Given the description of an element on the screen output the (x, y) to click on. 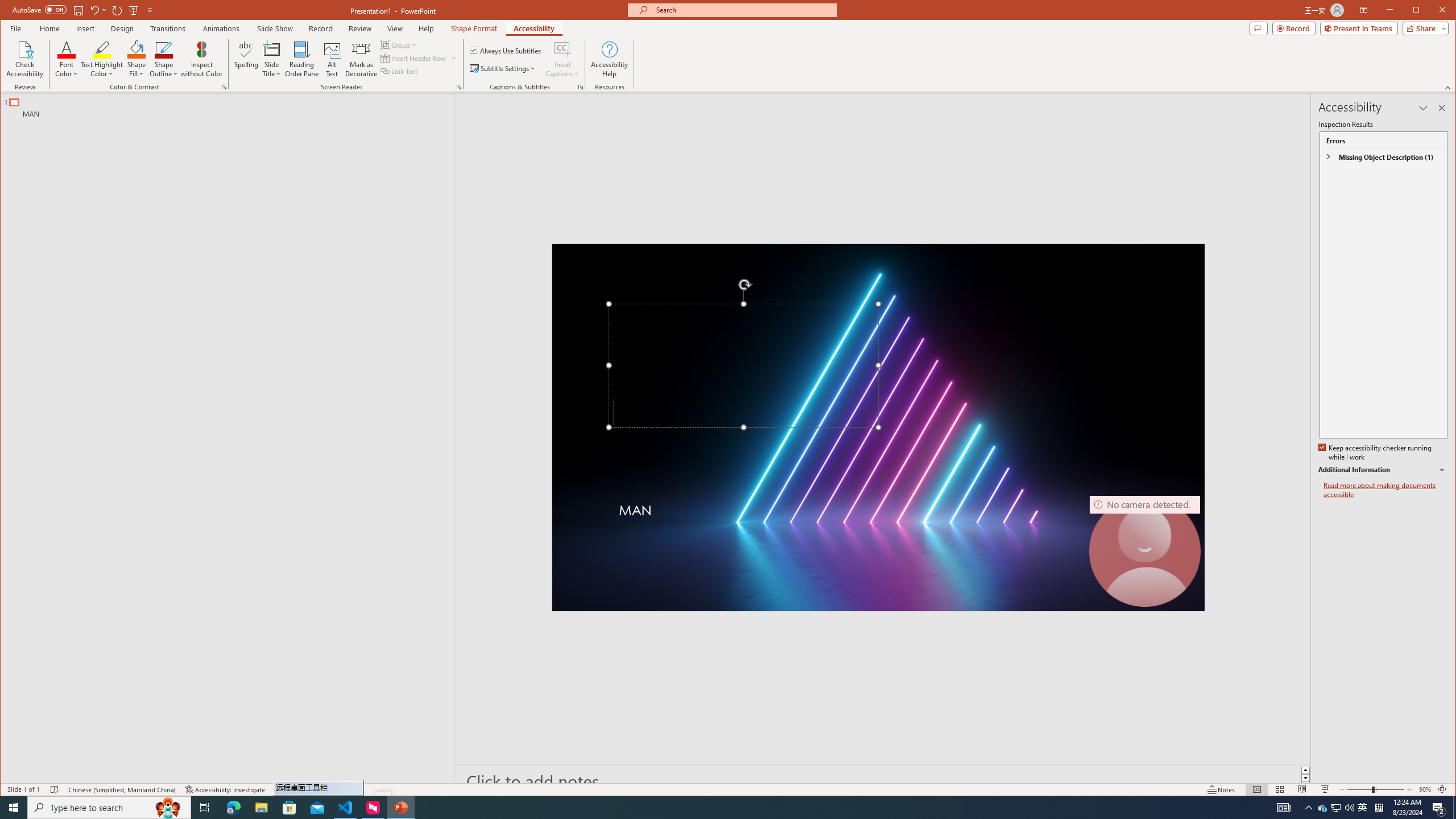
Alt Text (331, 59)
Font Color Red (66, 48)
Maximize (1432, 11)
Subtitle Settings (502, 68)
